Given the description of an element on the screen output the (x, y) to click on. 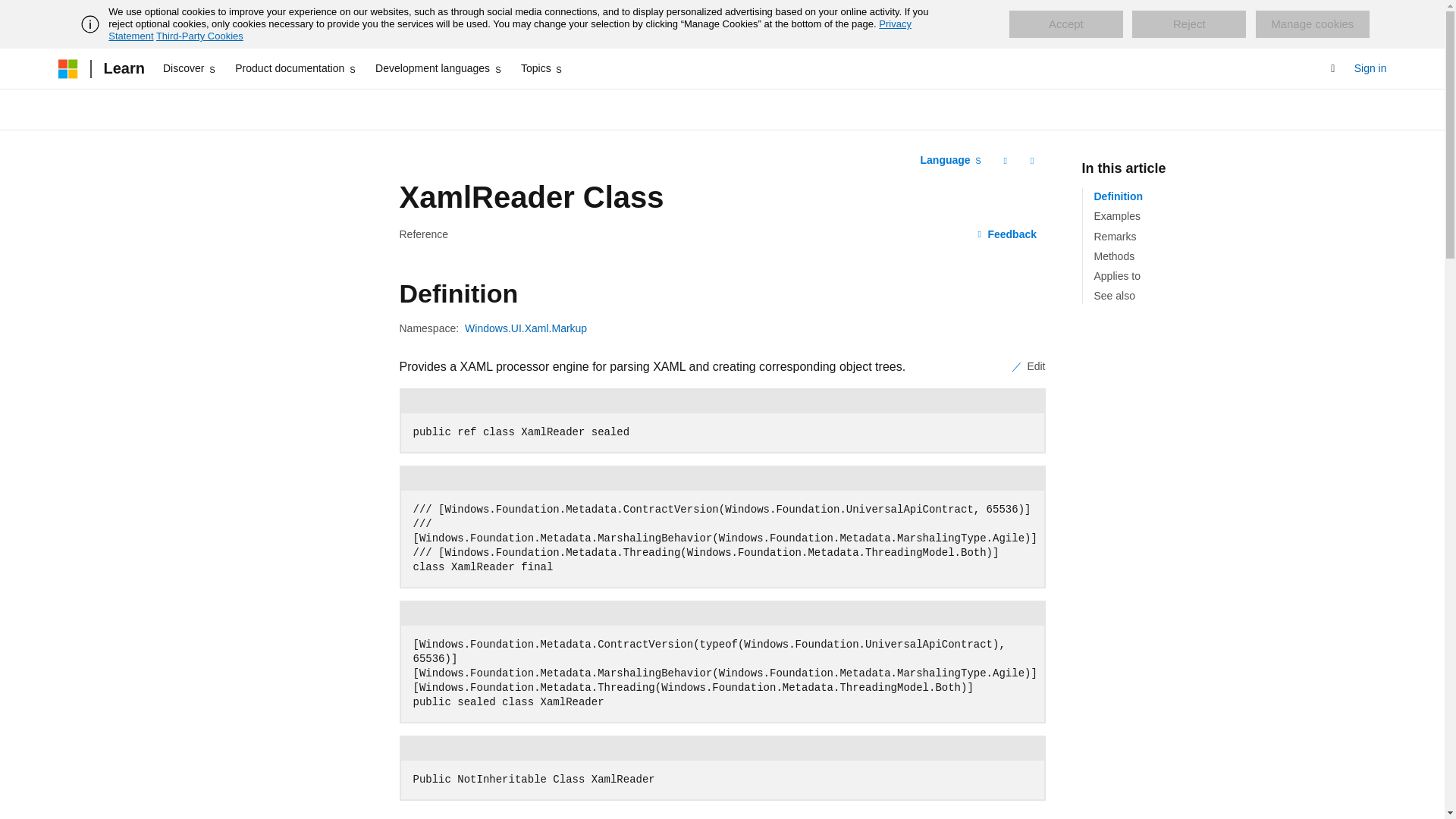
Accept (1065, 23)
Product documentation (295, 68)
Development languages (438, 68)
Topics (542, 68)
Language (951, 160)
Reject (1189, 23)
Manage cookies (1312, 23)
Privacy Statement (509, 29)
Learn (123, 68)
Discover (189, 68)
